Given the description of an element on the screen output the (x, y) to click on. 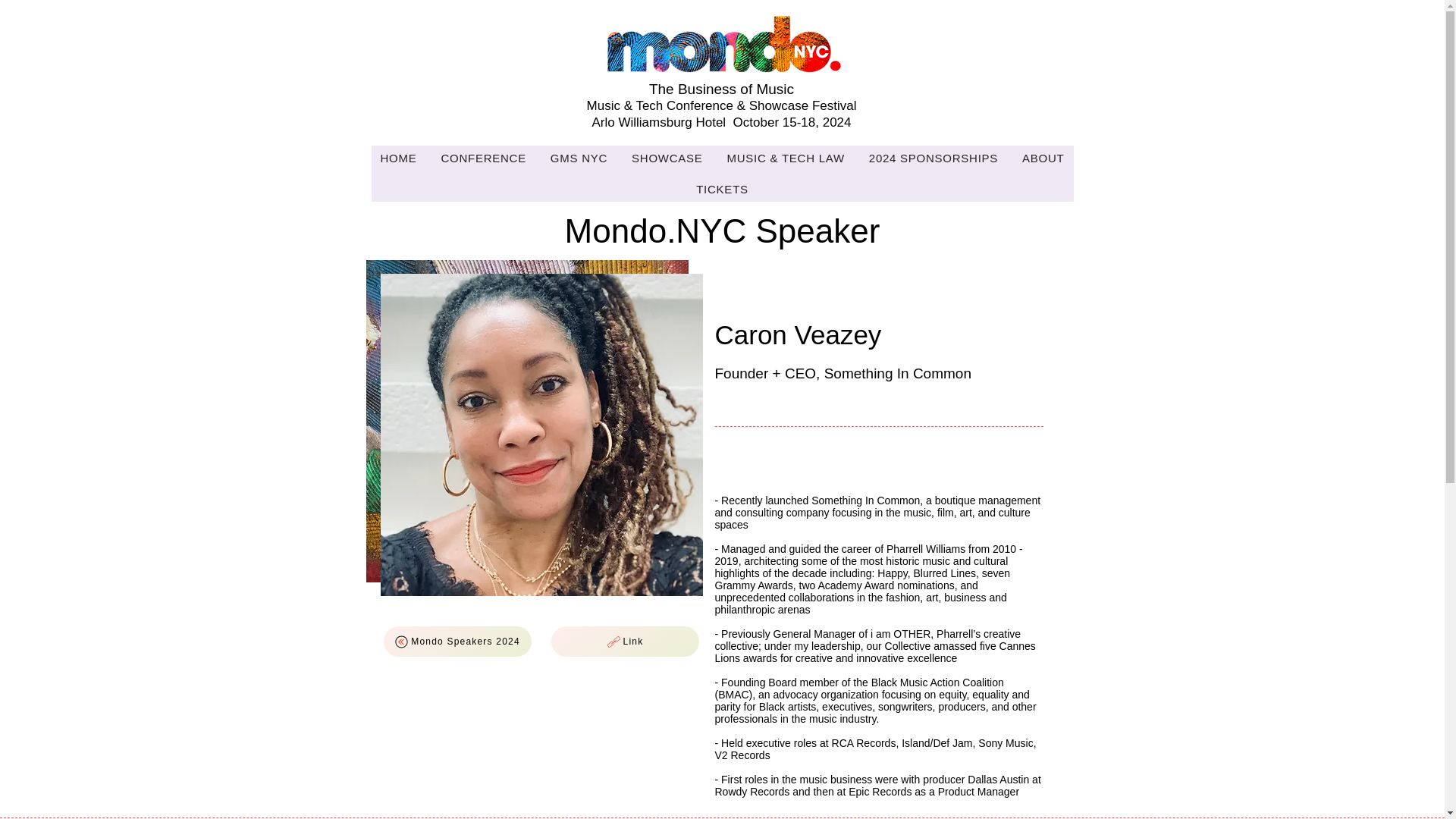
HOME (398, 157)
Link (624, 641)
CONFERENCE (482, 157)
SHOWCASE (667, 157)
2024 SPONSORSHIPS (933, 157)
ABOUT (1043, 157)
Mondo Speakers 2024 (457, 641)
Caron Veazey Headshot - Caron Veazey.jpe (541, 434)
TICKETS (722, 188)
